Given the description of an element on the screen output the (x, y) to click on. 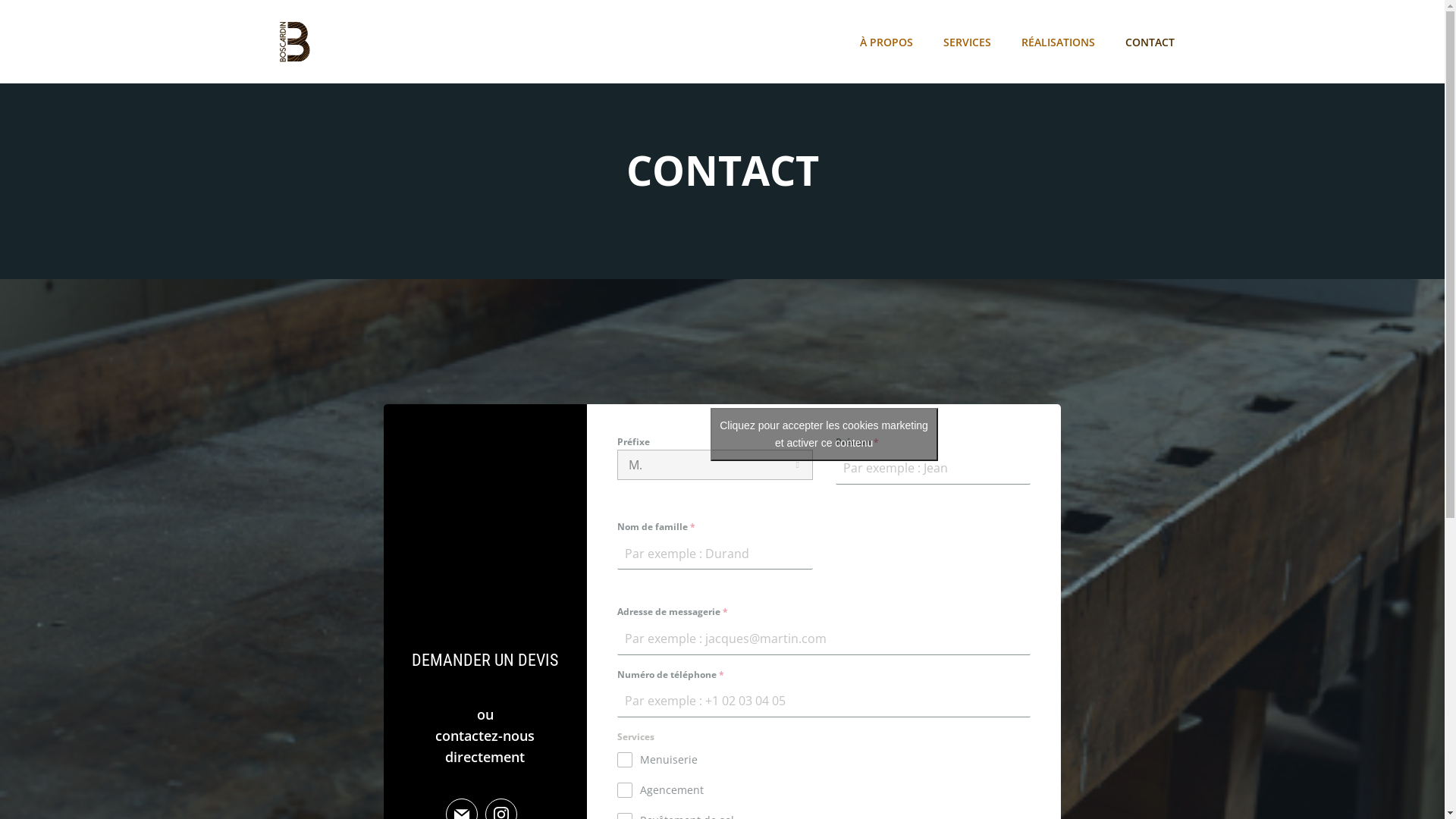
SERVICES Element type: text (967, 41)
Bloom Communication Element type: text (894, 773)
CONTACT Element type: text (1149, 41)
